Given the description of an element on the screen output the (x, y) to click on. 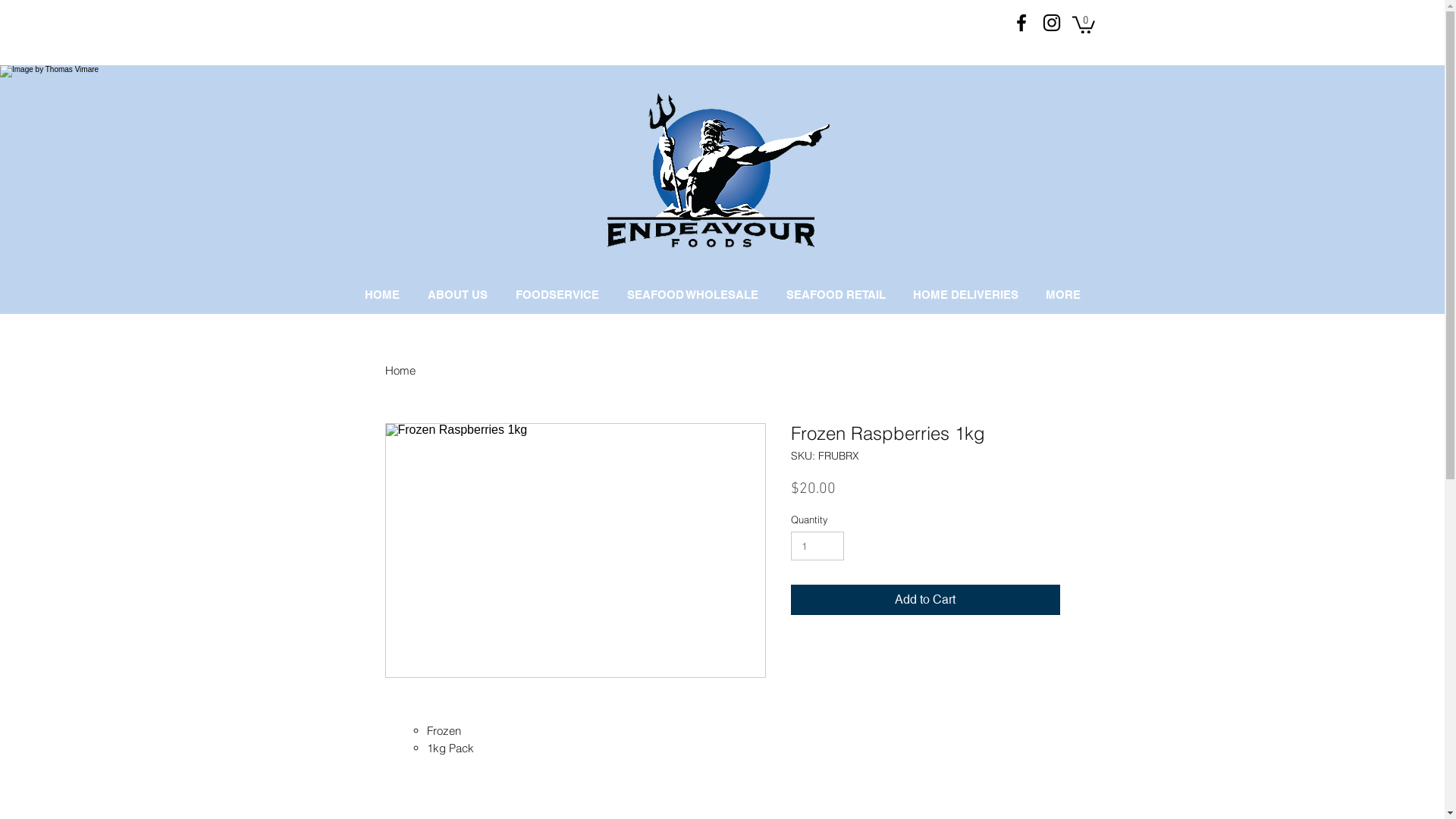
SEAFOOD WHOLESALE Element type: text (691, 294)
0 Element type: text (1083, 23)
ABOUT US Element type: text (458, 294)
SEAFOOD RETAIL Element type: text (834, 294)
HOME Element type: text (381, 294)
Endeavour Foods Logo Element type: hover (712, 170)
FOODSERVICE Element type: text (557, 294)
Home Element type: text (400, 370)
HOME DELIVERIES Element type: text (965, 294)
Add to Cart Element type: text (924, 599)
